Given the description of an element on the screen output the (x, y) to click on. 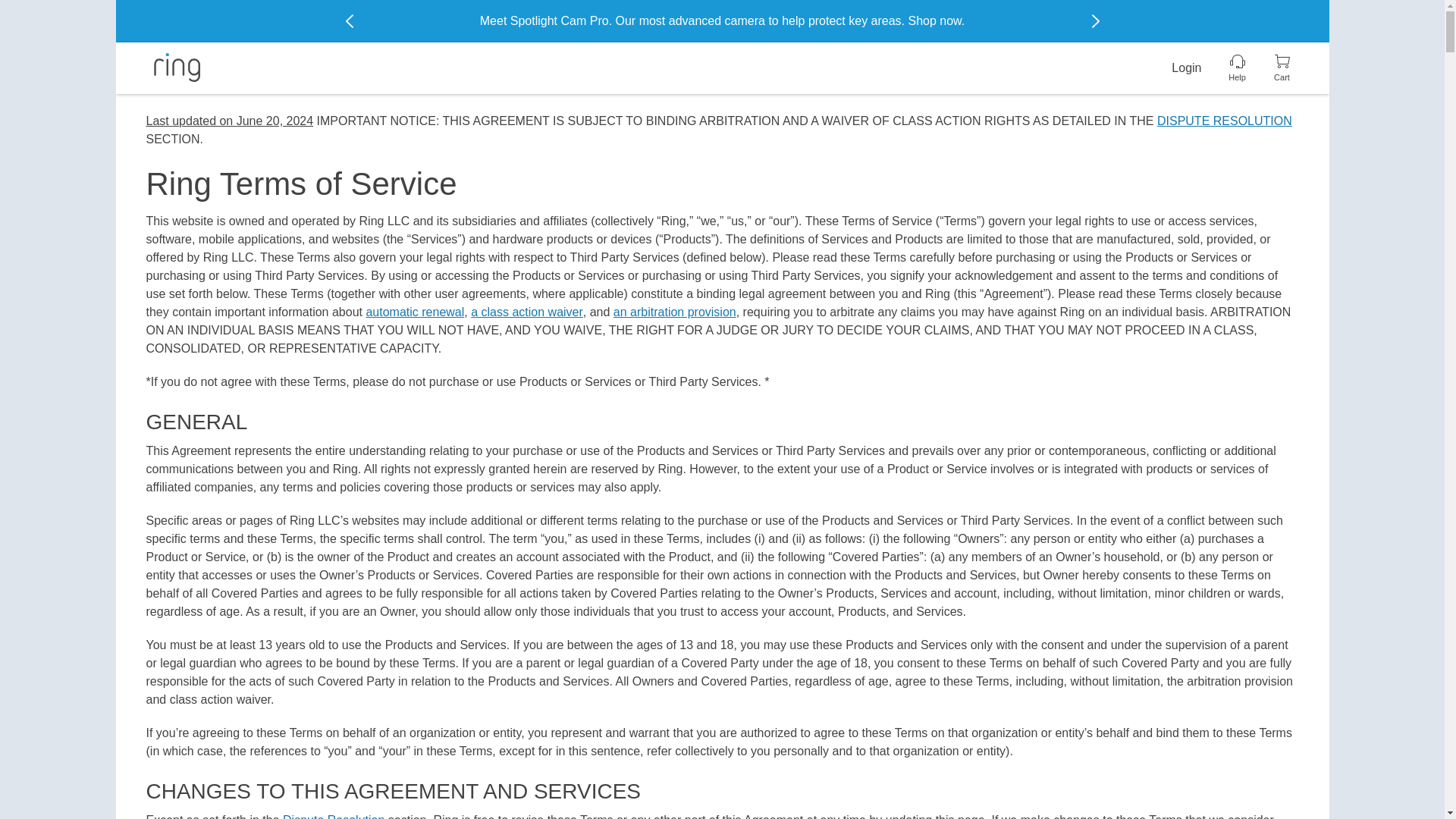
automatic renewal (414, 311)
an arbitration provision (674, 311)
a class action waiver (526, 311)
Login (1186, 67)
DISPUTE RESOLUTION (1224, 120)
Dispute Resolution (333, 816)
